Given the description of an element on the screen output the (x, y) to click on. 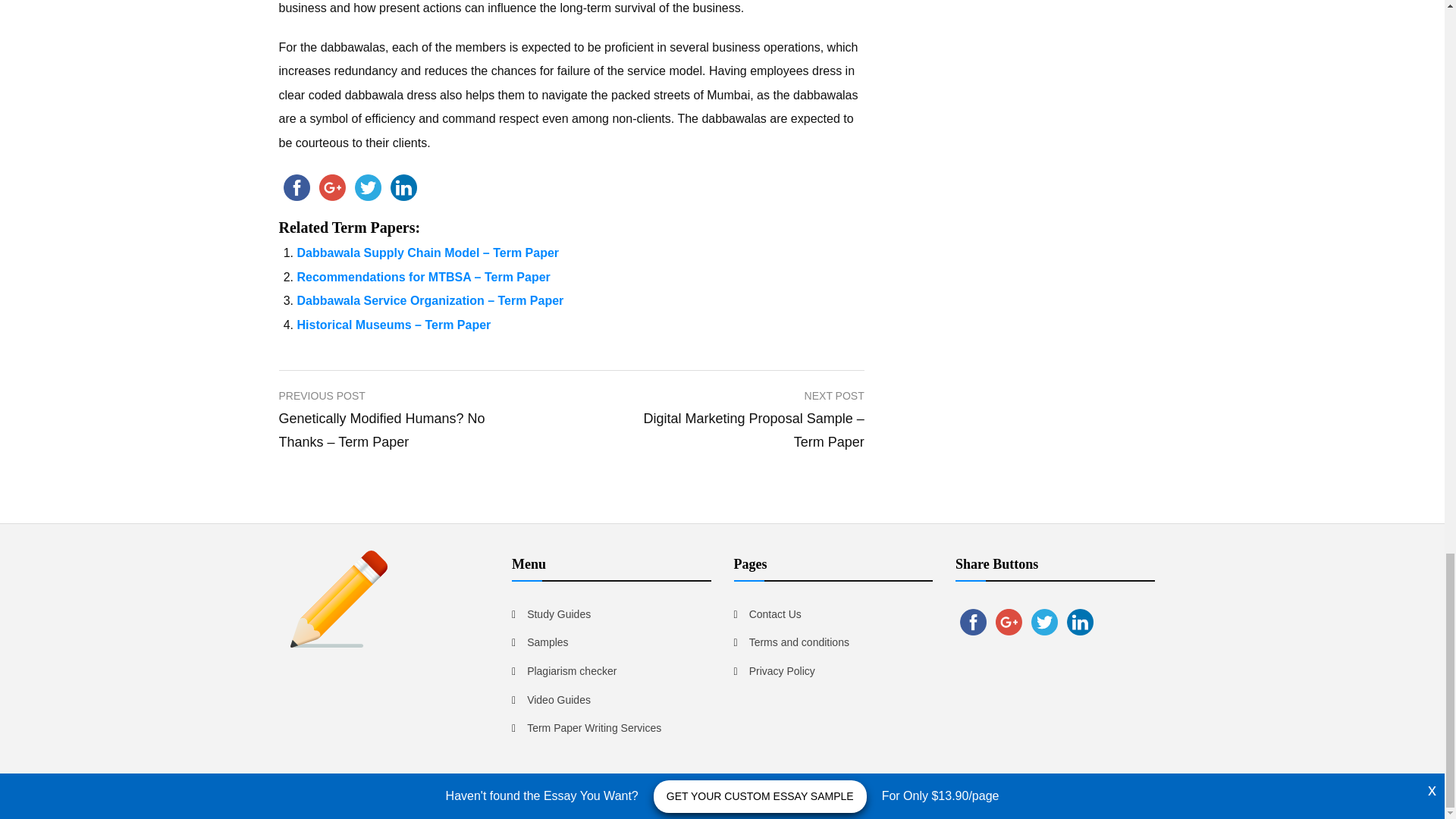
Twitter (367, 187)
Facebook (296, 187)
LinkedIn (402, 187)
